Given the description of an element on the screen output the (x, y) to click on. 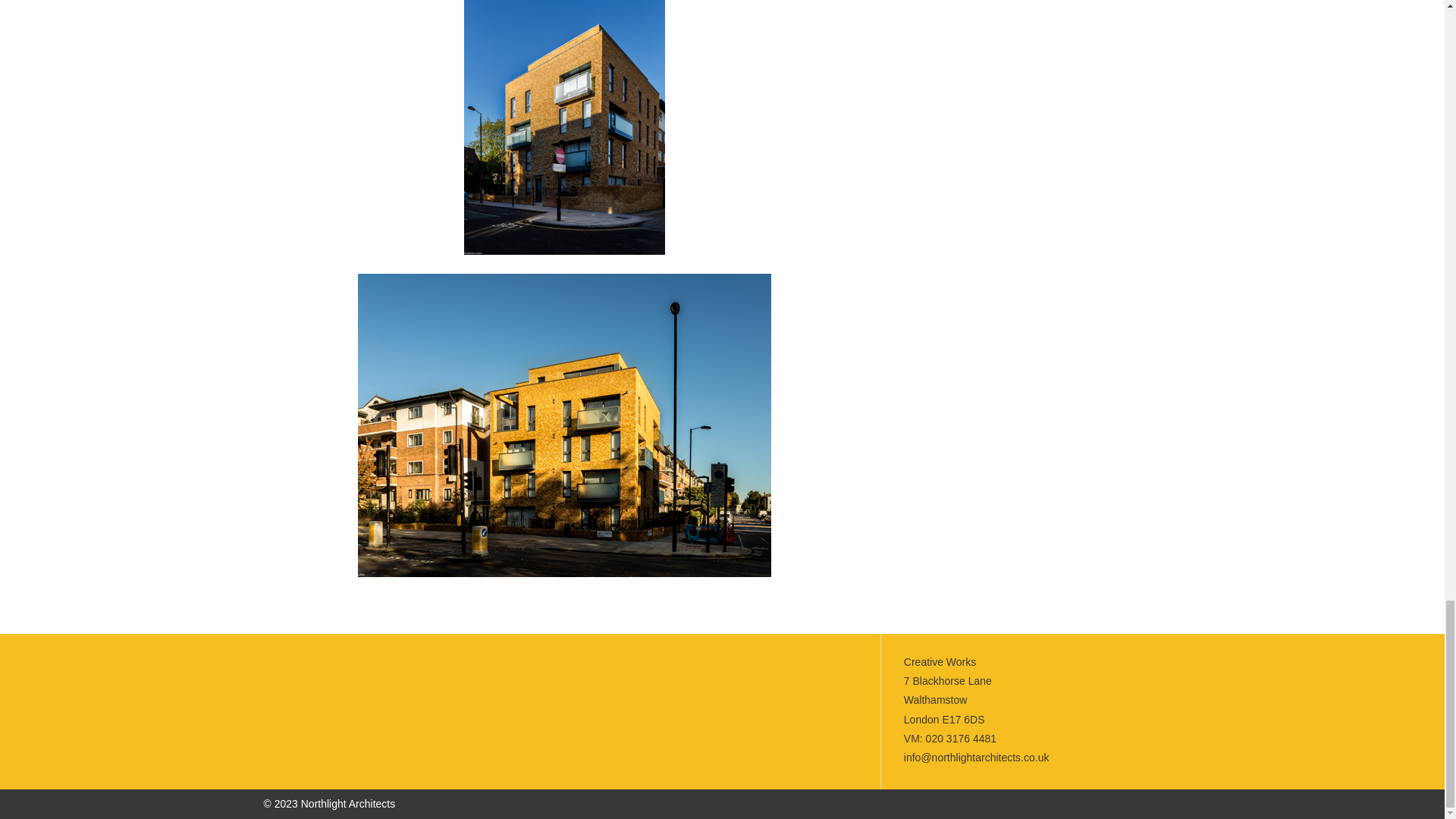
VM: 020 3176 4481 (949, 738)
project4-image918 (564, 425)
